Given the description of an element on the screen output the (x, y) to click on. 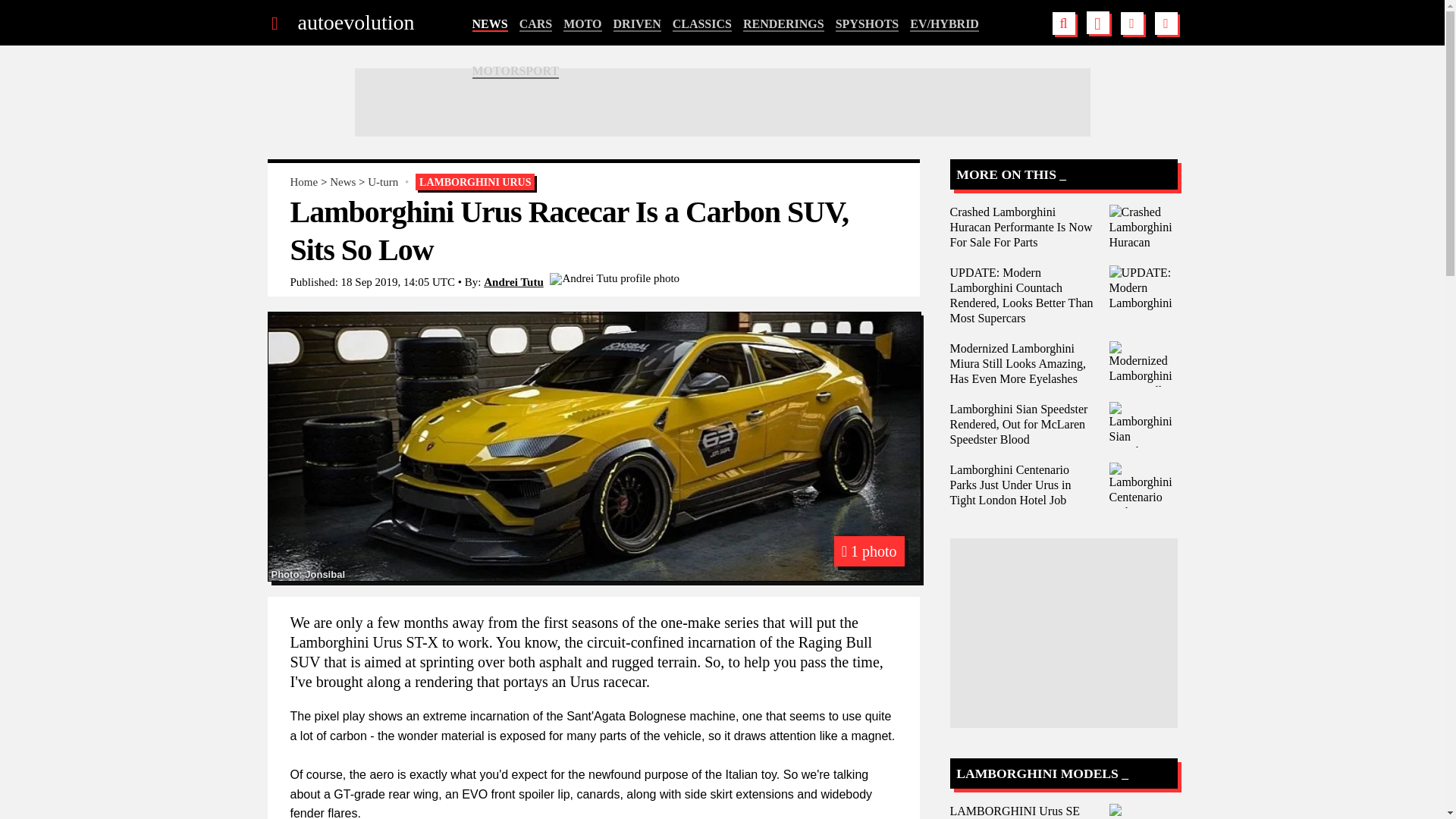
DRIVEN (636, 24)
RENDERINGS (783, 24)
MOTORSPORT (515, 71)
MOTO (582, 24)
SPYSHOTS (867, 24)
News (342, 182)
CARS (536, 24)
NEWS (488, 24)
Home (303, 182)
CLASSICS (702, 24)
